Given the description of an element on the screen output the (x, y) to click on. 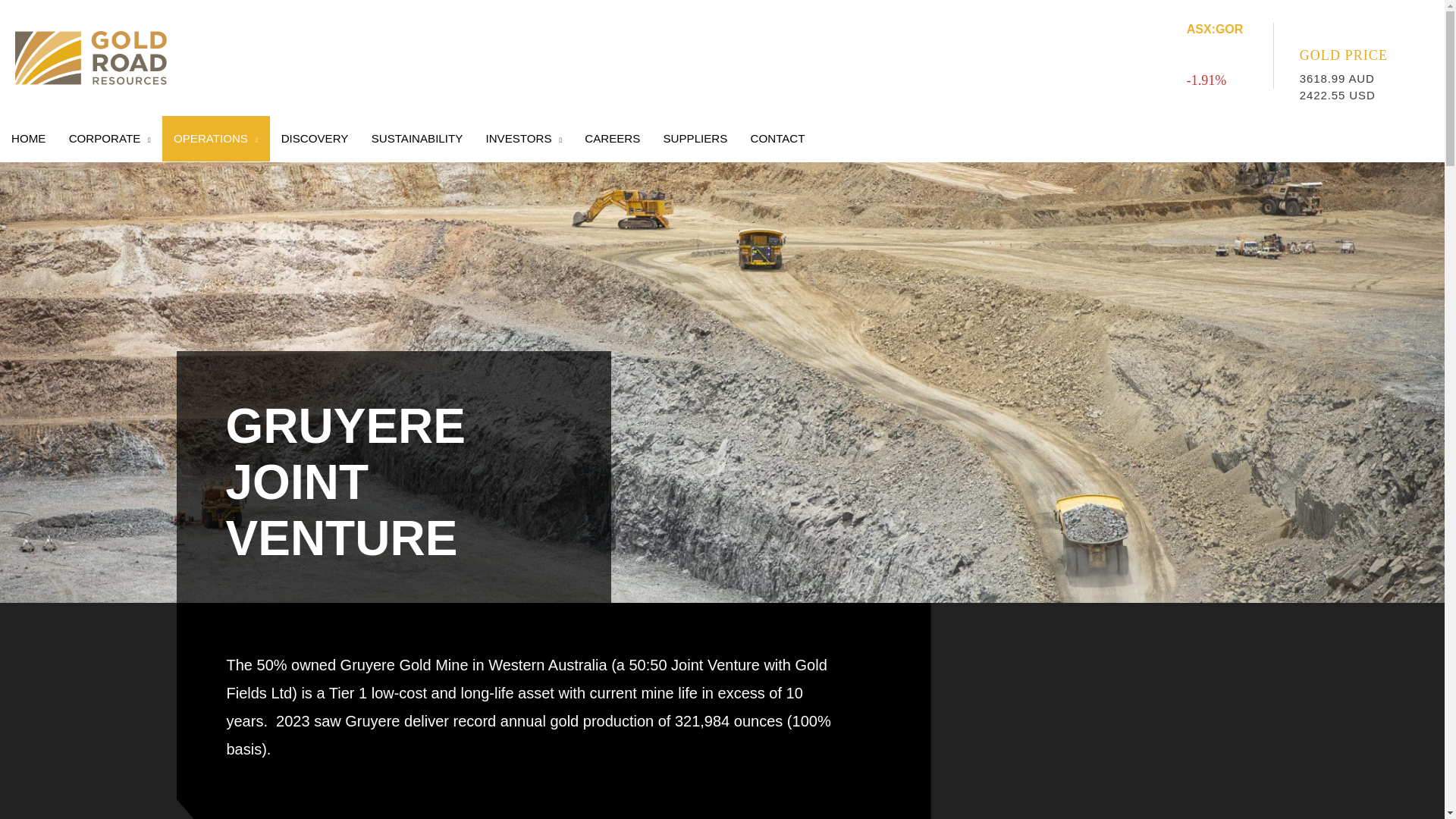
CORPORATE (109, 138)
OPERATIONS (215, 138)
HOME (29, 138)
DISCOVERY (314, 138)
